Given the description of an element on the screen output the (x, y) to click on. 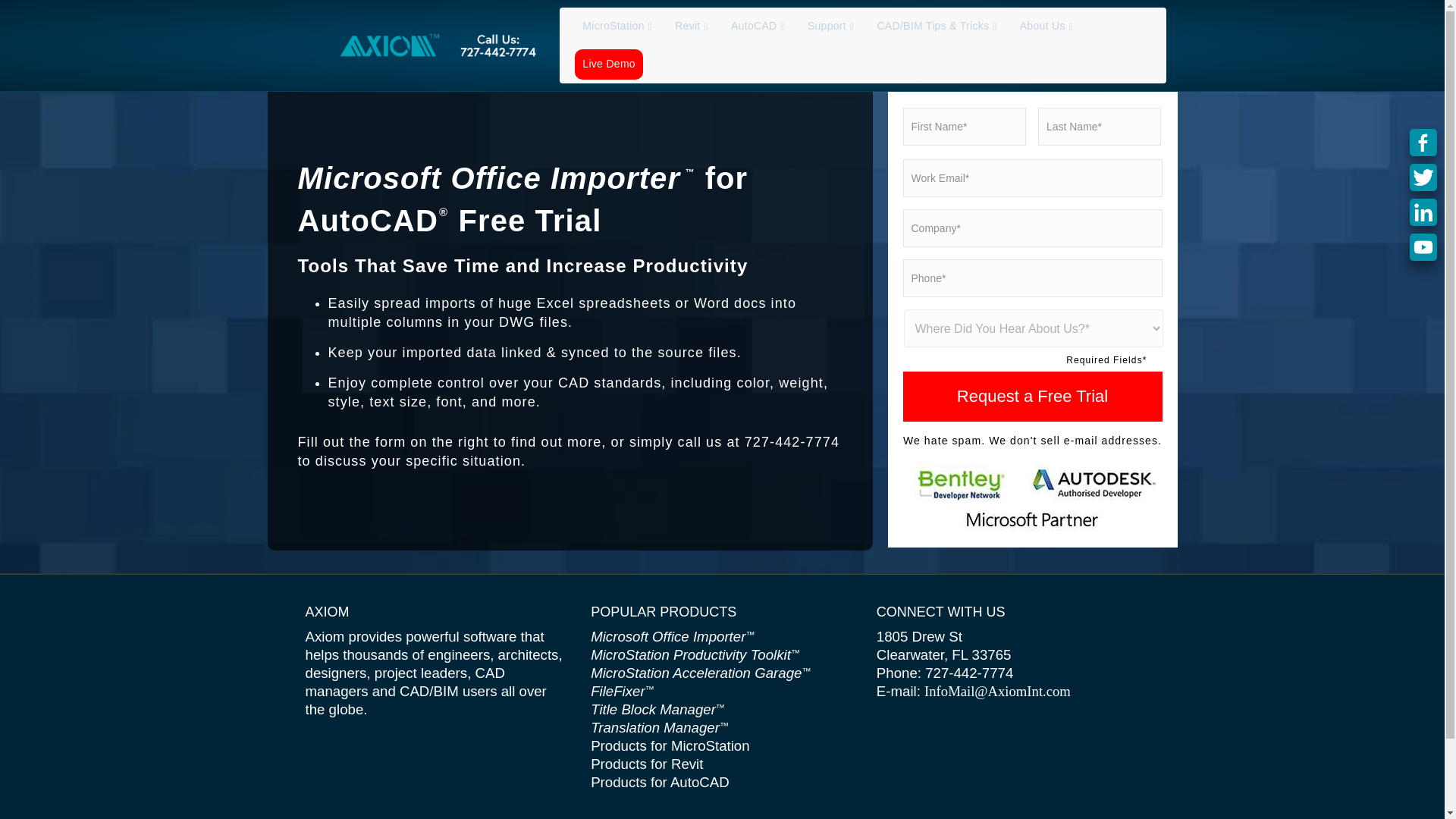
Request a Free Trial (1031, 396)
Revit (691, 26)
MicroStation (616, 26)
AutoCAD (757, 26)
axiom-trust-logo (1031, 498)
Support (831, 26)
